Given the description of an element on the screen output the (x, y) to click on. 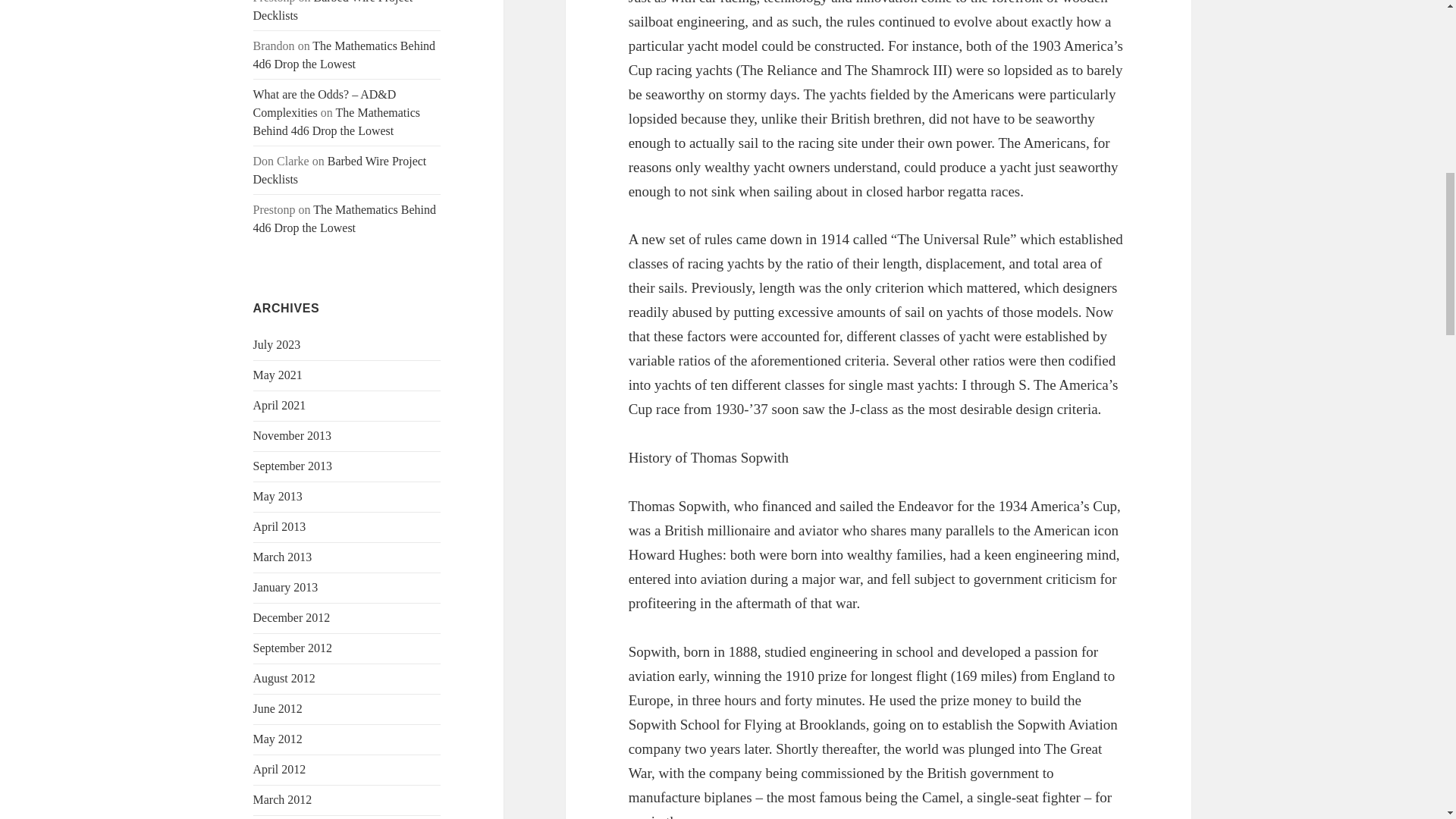
Barbed Wire Project Decklists (339, 169)
March 2012 (283, 799)
May 2021 (277, 374)
March 2013 (283, 556)
August 2012 (284, 677)
April 2012 (279, 768)
September 2012 (292, 647)
The Mathematics Behind 4d6 Drop the Lowest (344, 218)
November 2013 (292, 435)
May 2012 (277, 738)
May 2013 (277, 495)
Barbed Wire Project Decklists (333, 11)
April 2021 (279, 404)
December 2012 (291, 617)
July 2023 (277, 344)
